Given the description of an element on the screen output the (x, y) to click on. 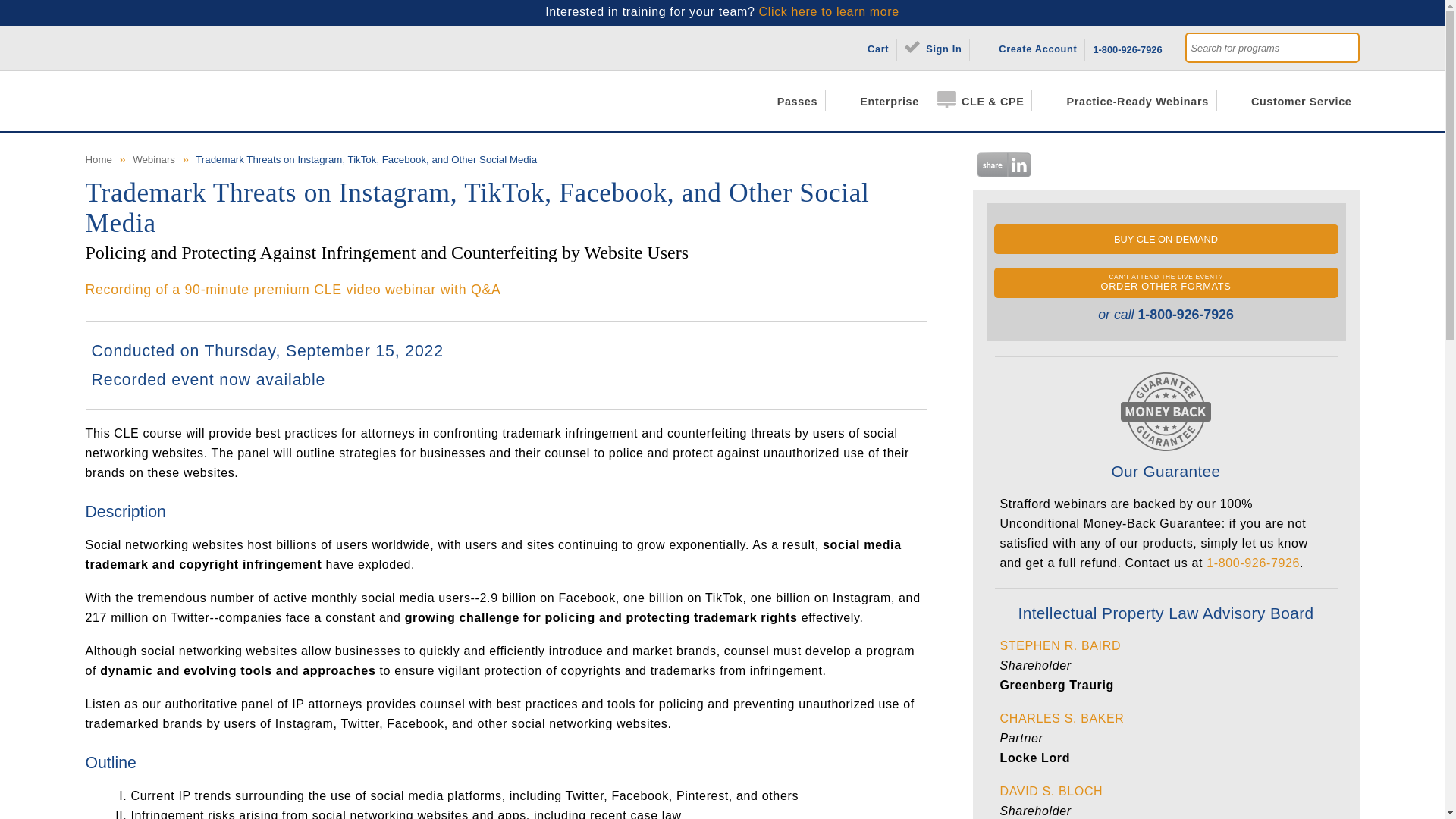
Cart (870, 46)
Sign In (936, 46)
1-800-926-7926 (1126, 47)
Buy CLE On-Demand (1165, 238)
Enterprise (880, 100)
Passes (788, 100)
Click here to learn more (828, 11)
Create Account (1030, 46)
